Given the description of an element on the screen output the (x, y) to click on. 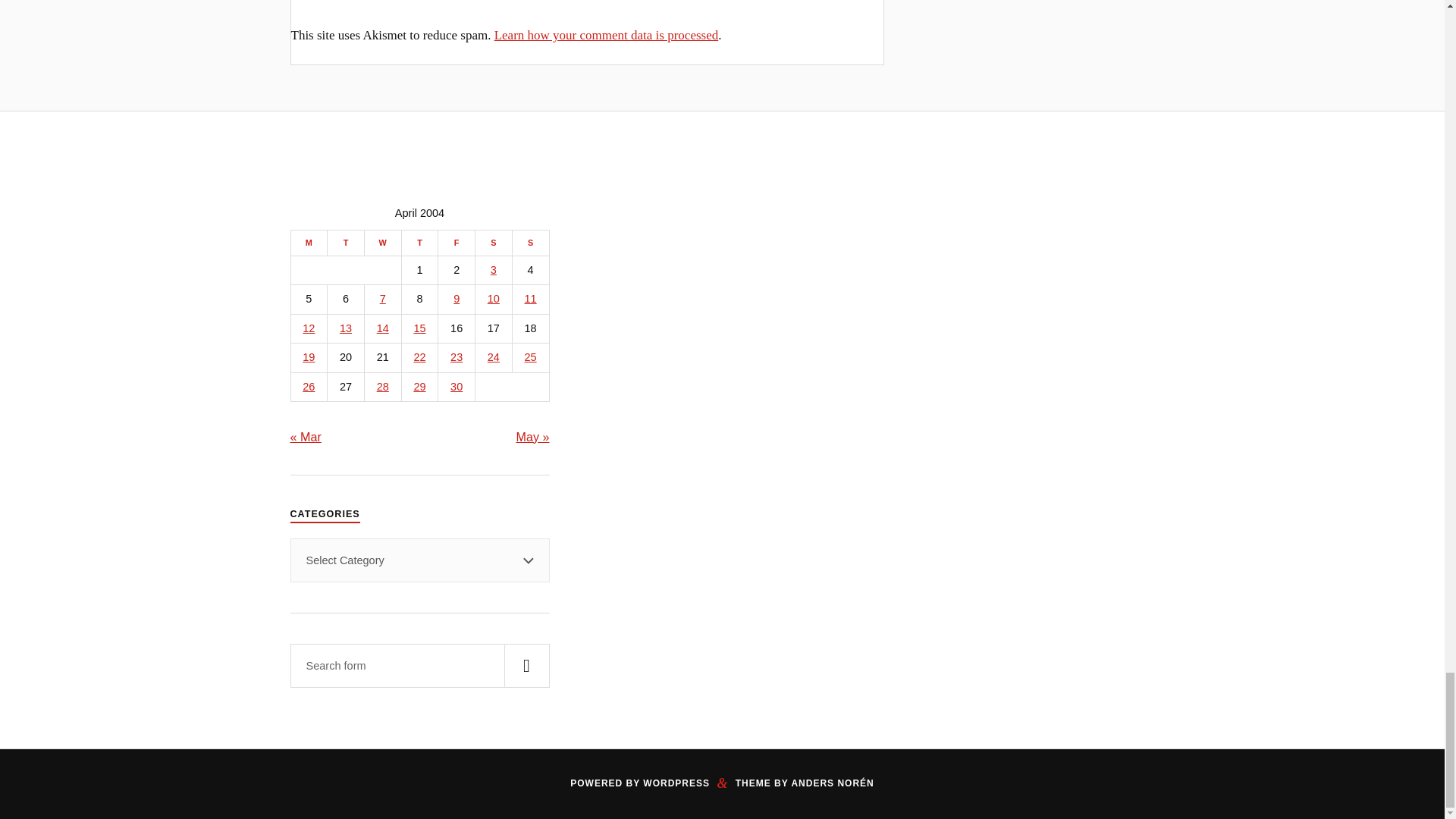
Monday (308, 242)
Thursday (419, 242)
Tuesday (346, 242)
Wednesday (382, 242)
